Given the description of an element on the screen output the (x, y) to click on. 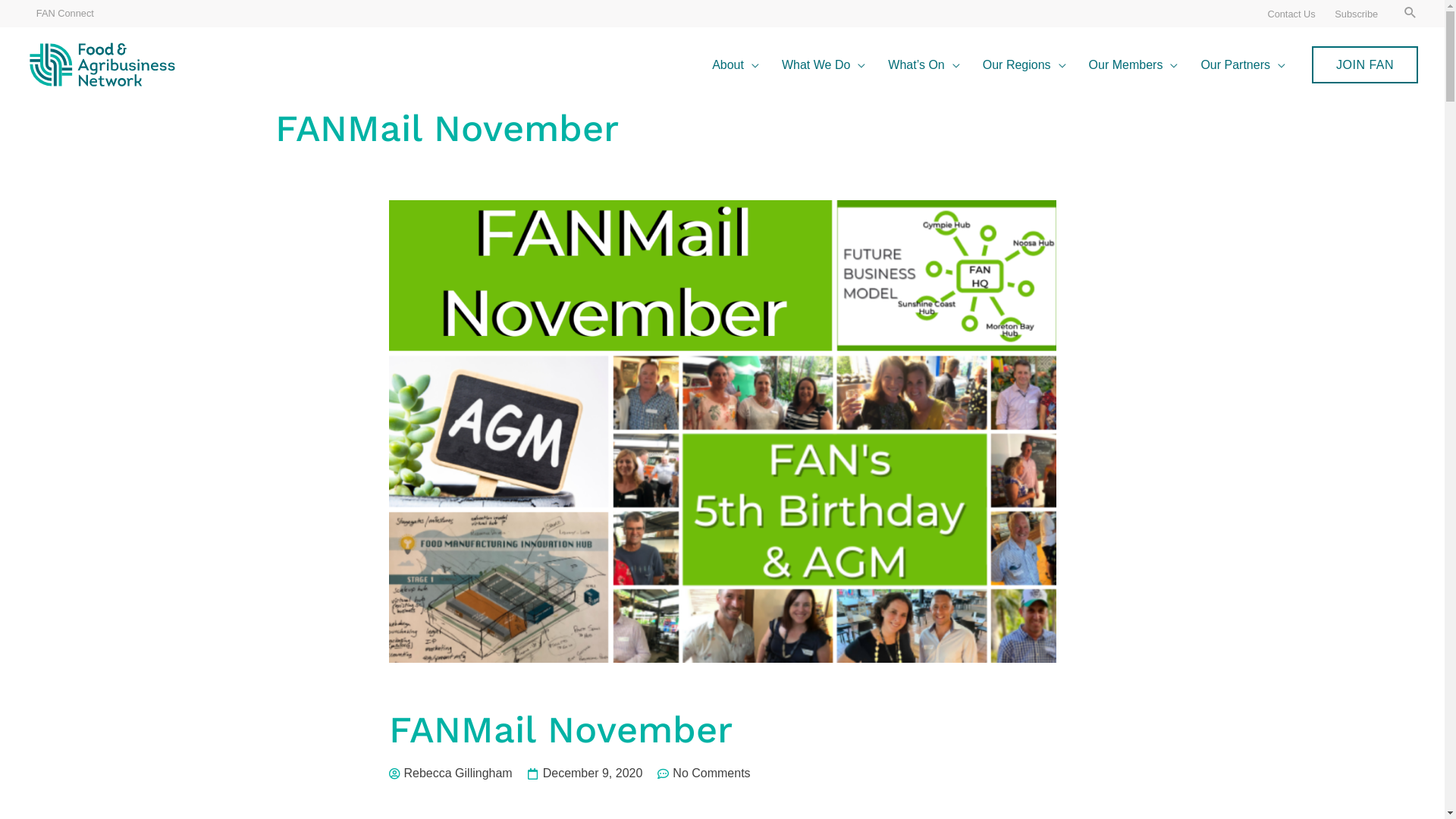
FAN Connect Element type: text (64, 13)
Our Members Element type: text (1133, 65)
About Element type: text (735, 65)
No Comments Element type: text (703, 773)
December 9, 2020 Element type: text (585, 773)
Rebecca Gillingham Element type: text (449, 773)
Subscribe Element type: text (1356, 13)
JOIN FAN Element type: text (1364, 65)
Our Regions Element type: text (1024, 65)
Contact Us Element type: text (1291, 13)
Our Partners Element type: text (1242, 65)
What We Do Element type: text (823, 65)
